Given the description of an element on the screen output the (x, y) to click on. 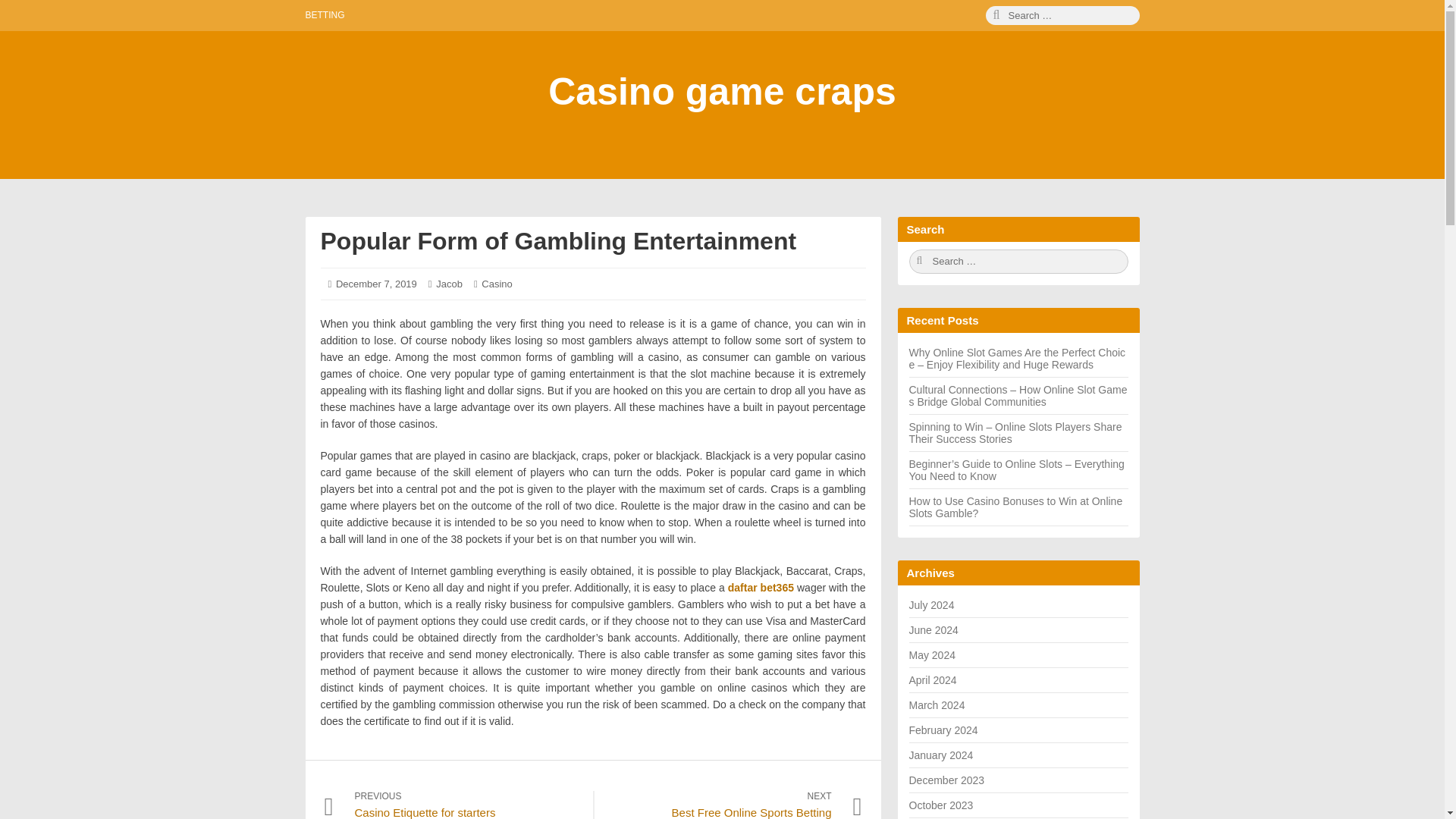
October 2023 (940, 805)
Casino (496, 283)
daftar bet365 (760, 587)
Search (1062, 15)
December 2023 (946, 779)
May 2024 (931, 654)
February 2024 (942, 729)
Skip to content (19, 20)
Popular Form of Gambling Entertainment (468, 805)
January 2024 (376, 283)
Jacob (558, 240)
